Given the description of an element on the screen output the (x, y) to click on. 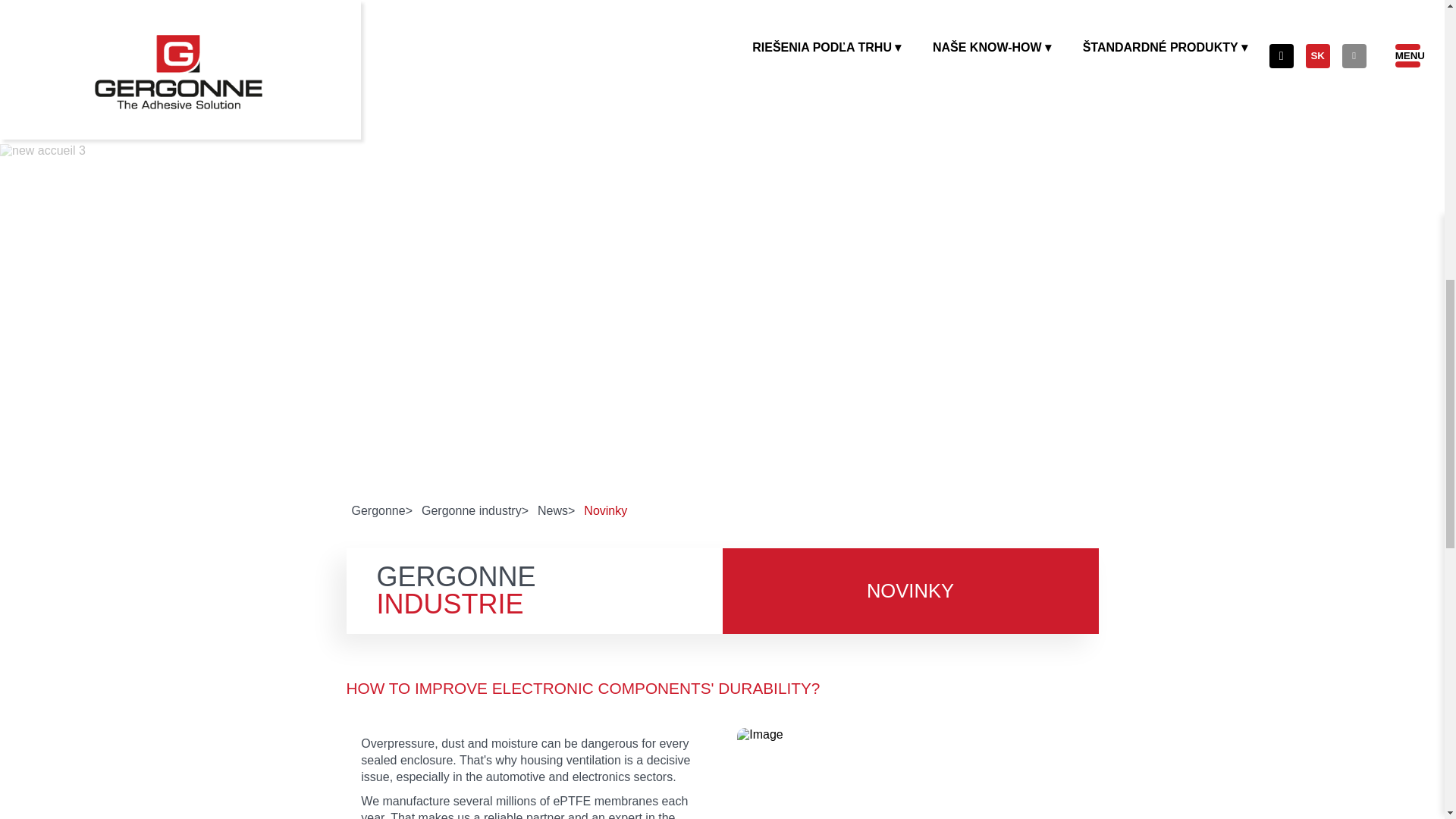
Gergonne (381, 510)
Gergonne industry (474, 510)
